Given the description of an element on the screen output the (x, y) to click on. 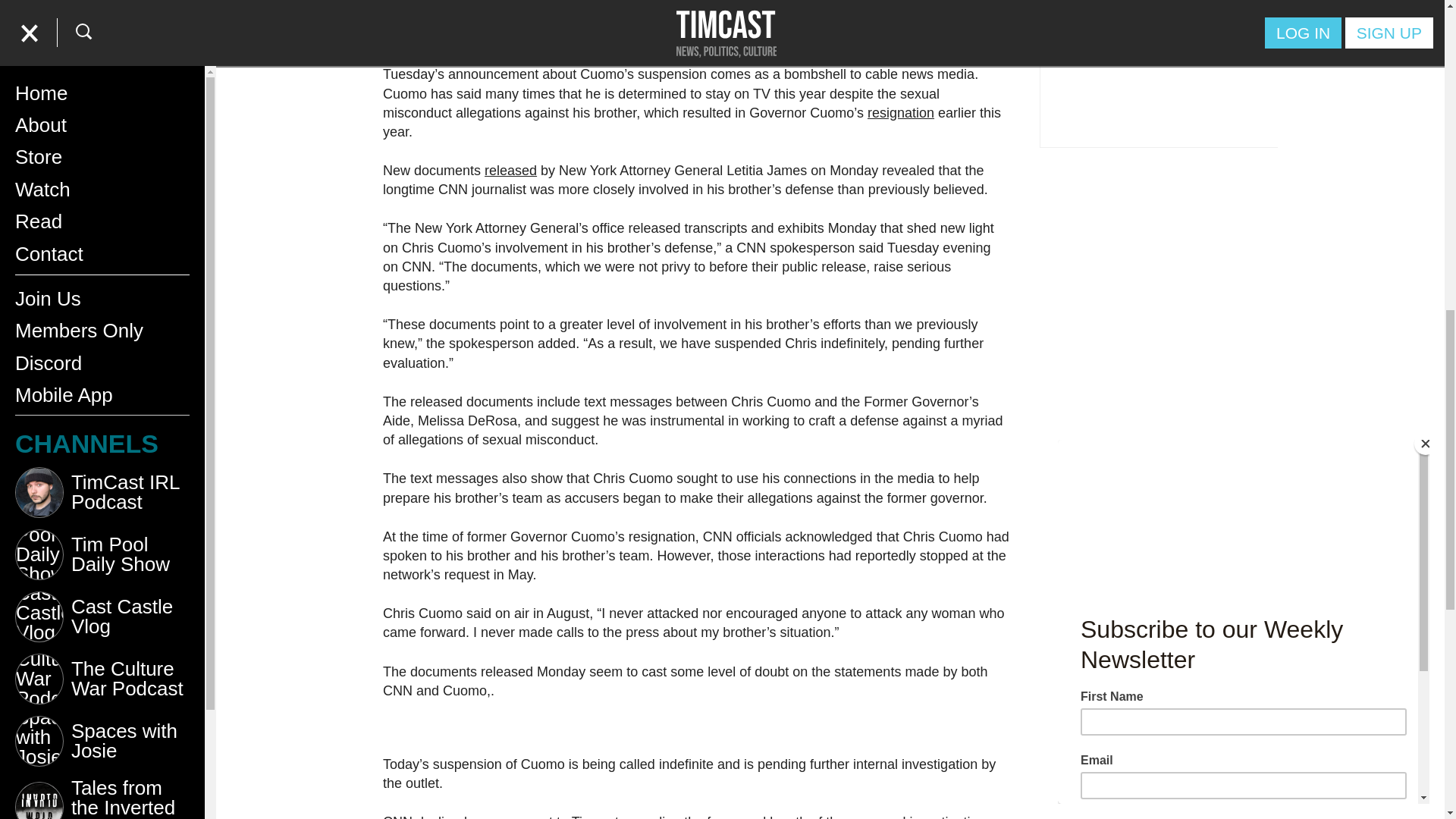
resignation (900, 112)
Documentaries (101, 184)
Tales from the Inverted World (101, 14)
released (510, 170)
Pop Culture Crisis (101, 60)
Chicken-City (101, 122)
Gamer Maids (101, 247)
